Given the description of an element on the screen output the (x, y) to click on. 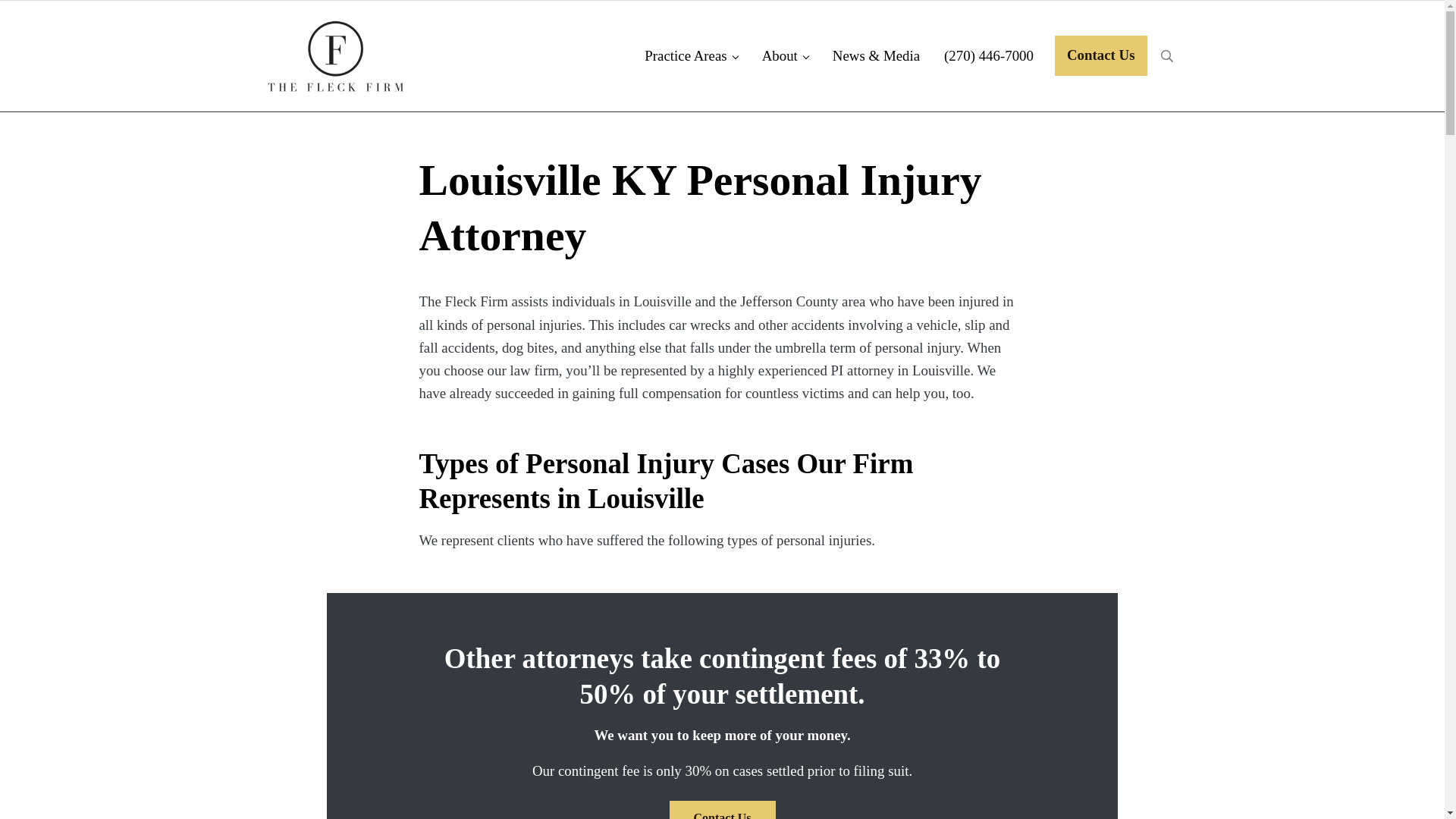
Contact Us (1100, 56)
Practice Areas (690, 55)
About (785, 55)
